Given the description of an element on the screen output the (x, y) to click on. 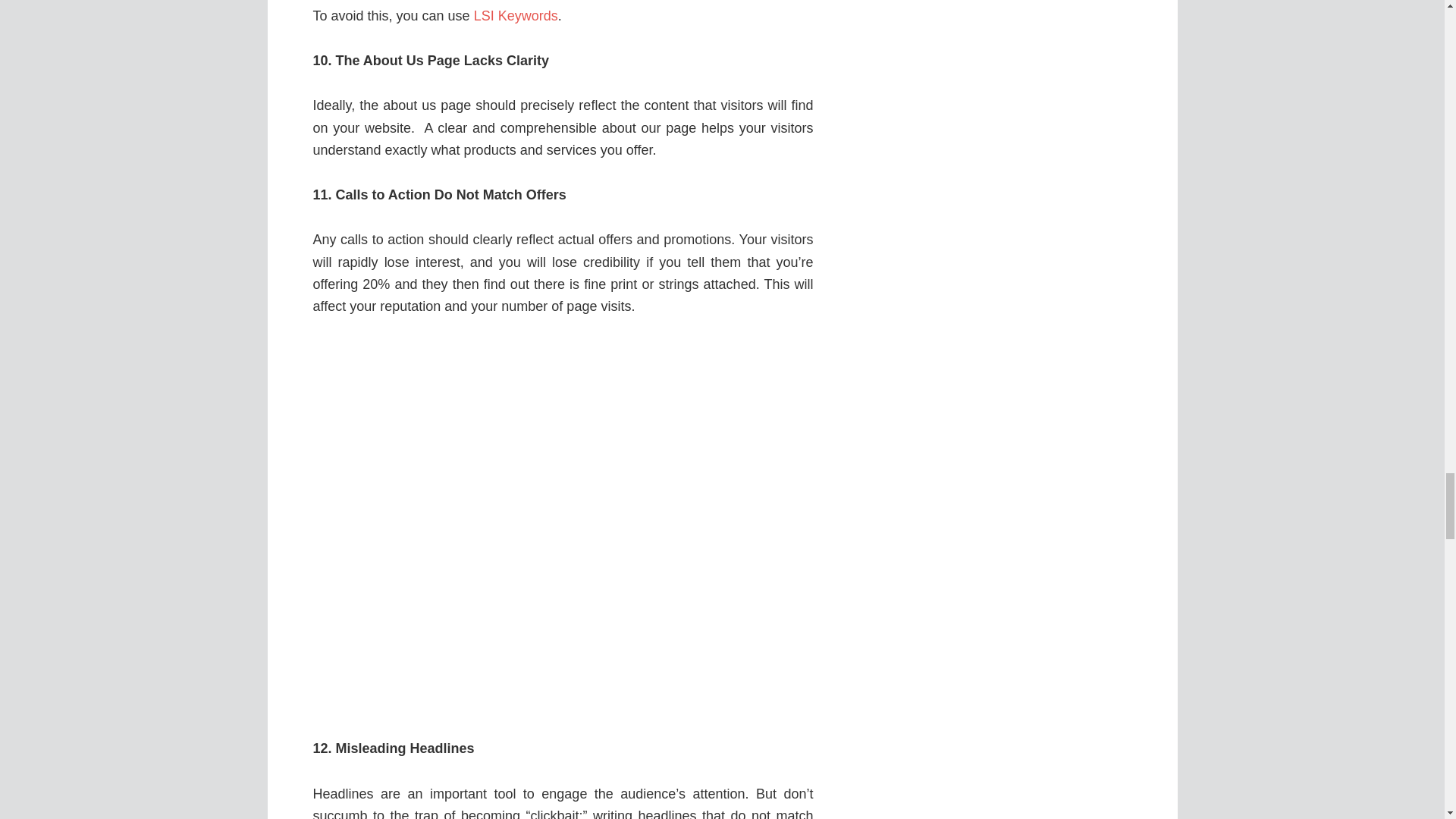
LSI Keywords (515, 15)
